Given the description of an element on the screen output the (x, y) to click on. 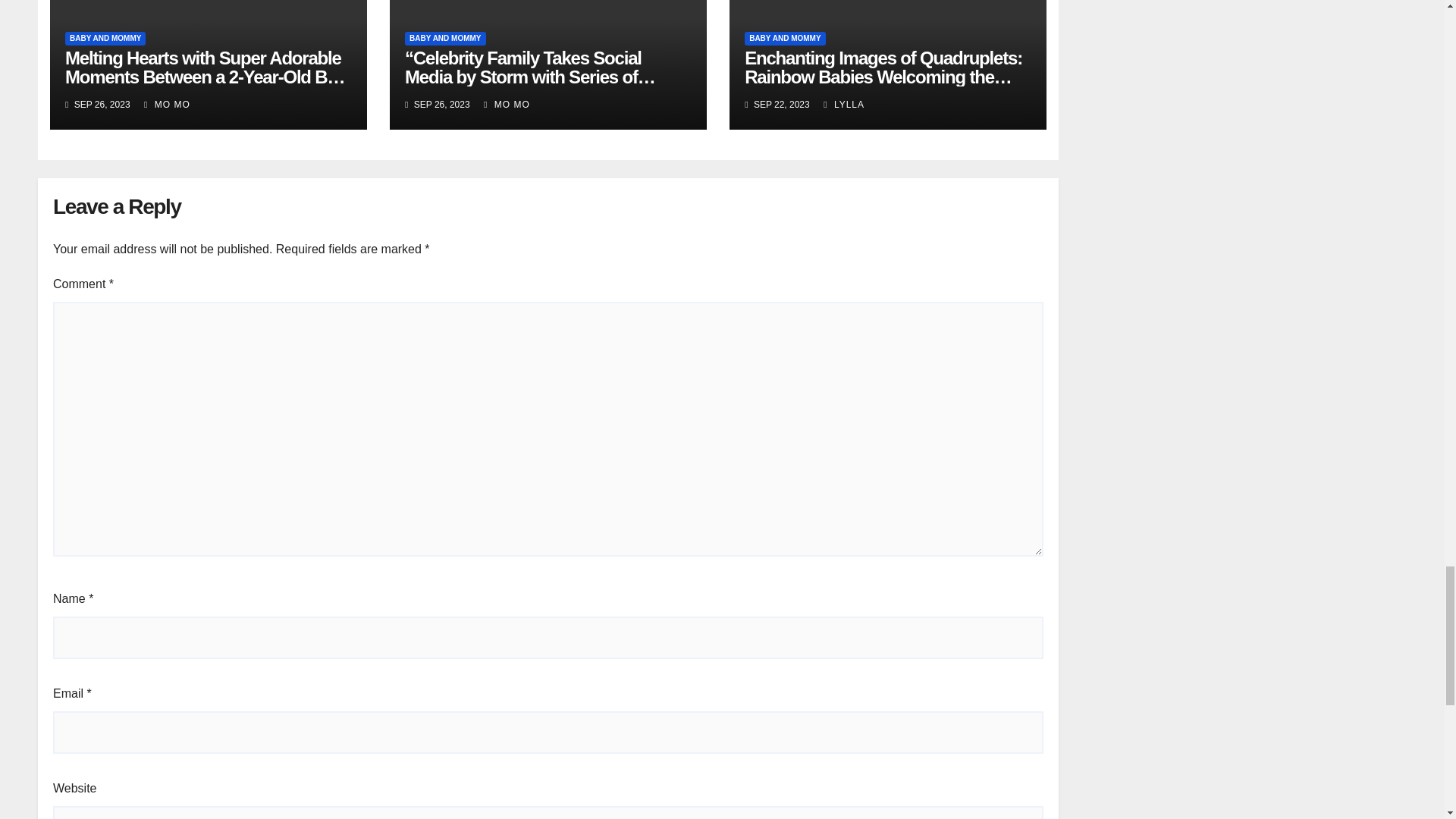
BABY AND MOMMY (784, 38)
MO MO (167, 104)
BABY AND MOMMY (105, 38)
MO MO (506, 104)
BABY AND MOMMY (444, 38)
